Given the description of an element on the screen output the (x, y) to click on. 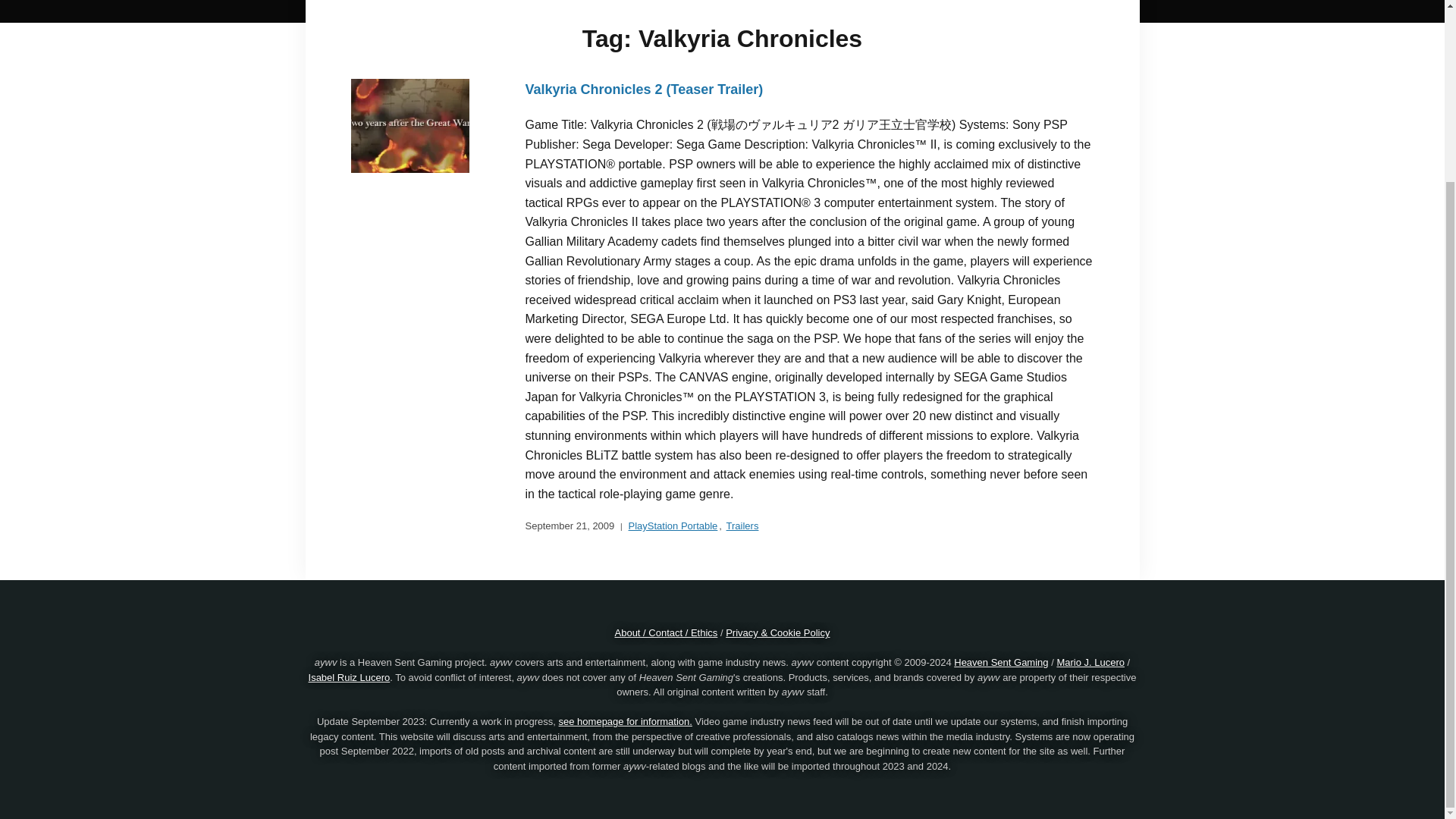
Trailers (742, 526)
Heaven Sent Gaming (1000, 662)
see homepage for information. (626, 721)
PlayStation Portable (672, 526)
Mario J. Lucero (1090, 662)
September 21, 2009 (569, 526)
Isabel Ruiz Lucero (349, 677)
